Given the description of an element on the screen output the (x, y) to click on. 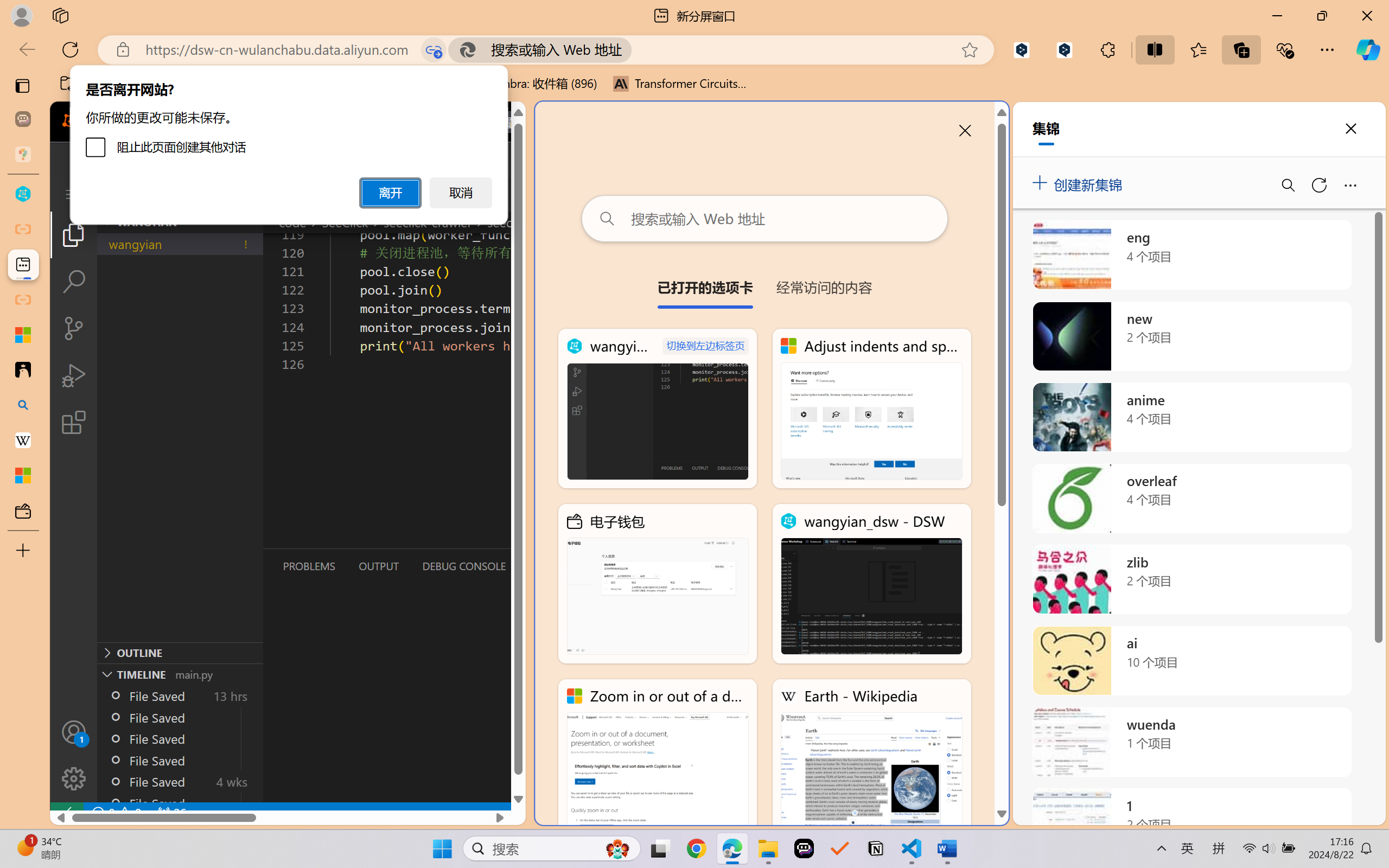
Earth - Wikipedia (22, 440)
remote (66, 812)
Copilot (Ctrl+Shift+.) (1368, 49)
wangyian_webcrawler - DSW (657, 408)
Earth - Wikipedia (871, 758)
Adjust indents and spacing - Microsoft Support (22, 334)
